Given the description of an element on the screen output the (x, y) to click on. 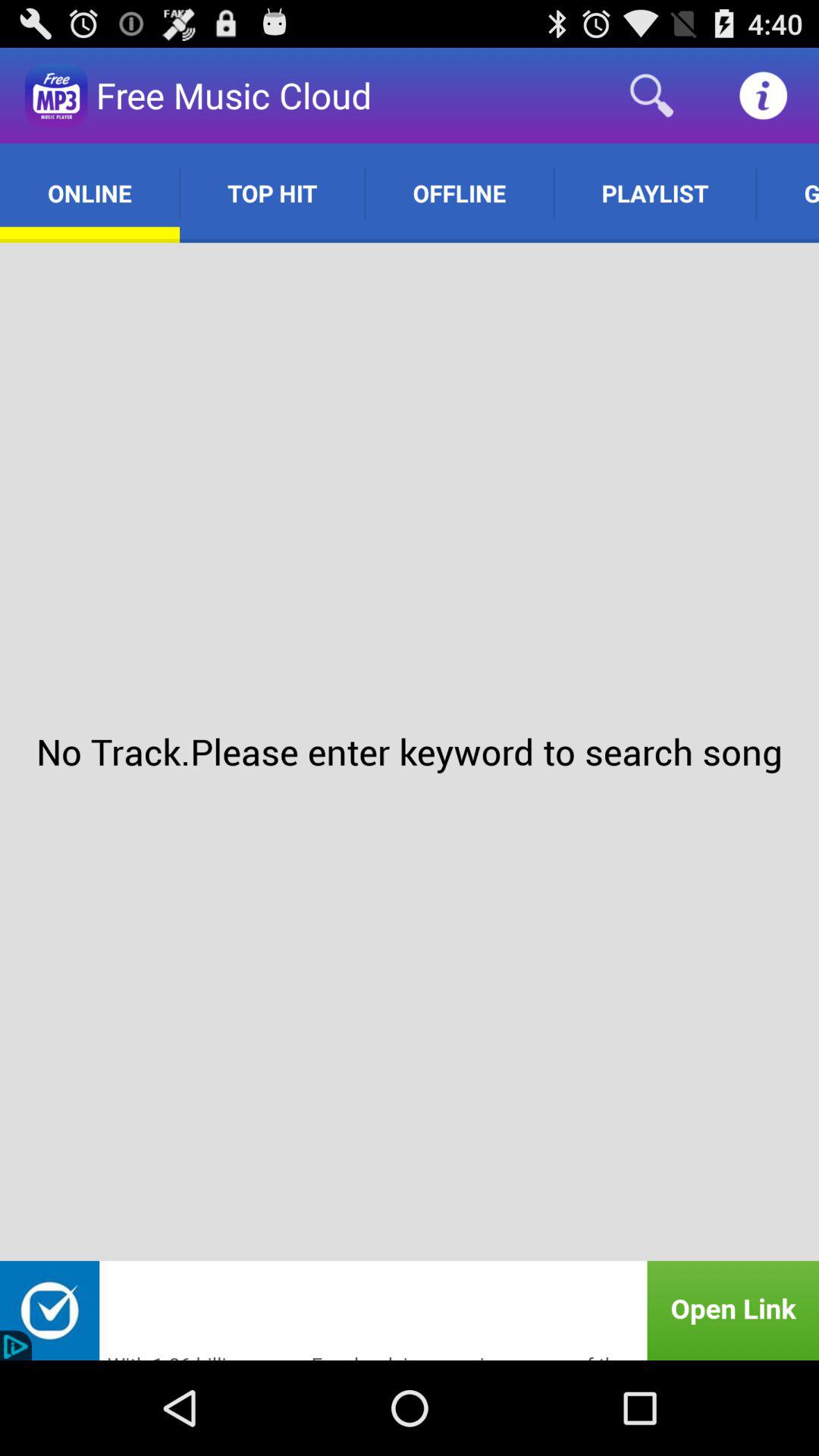
go to advertisement (409, 1310)
